Given the description of an element on the screen output the (x, y) to click on. 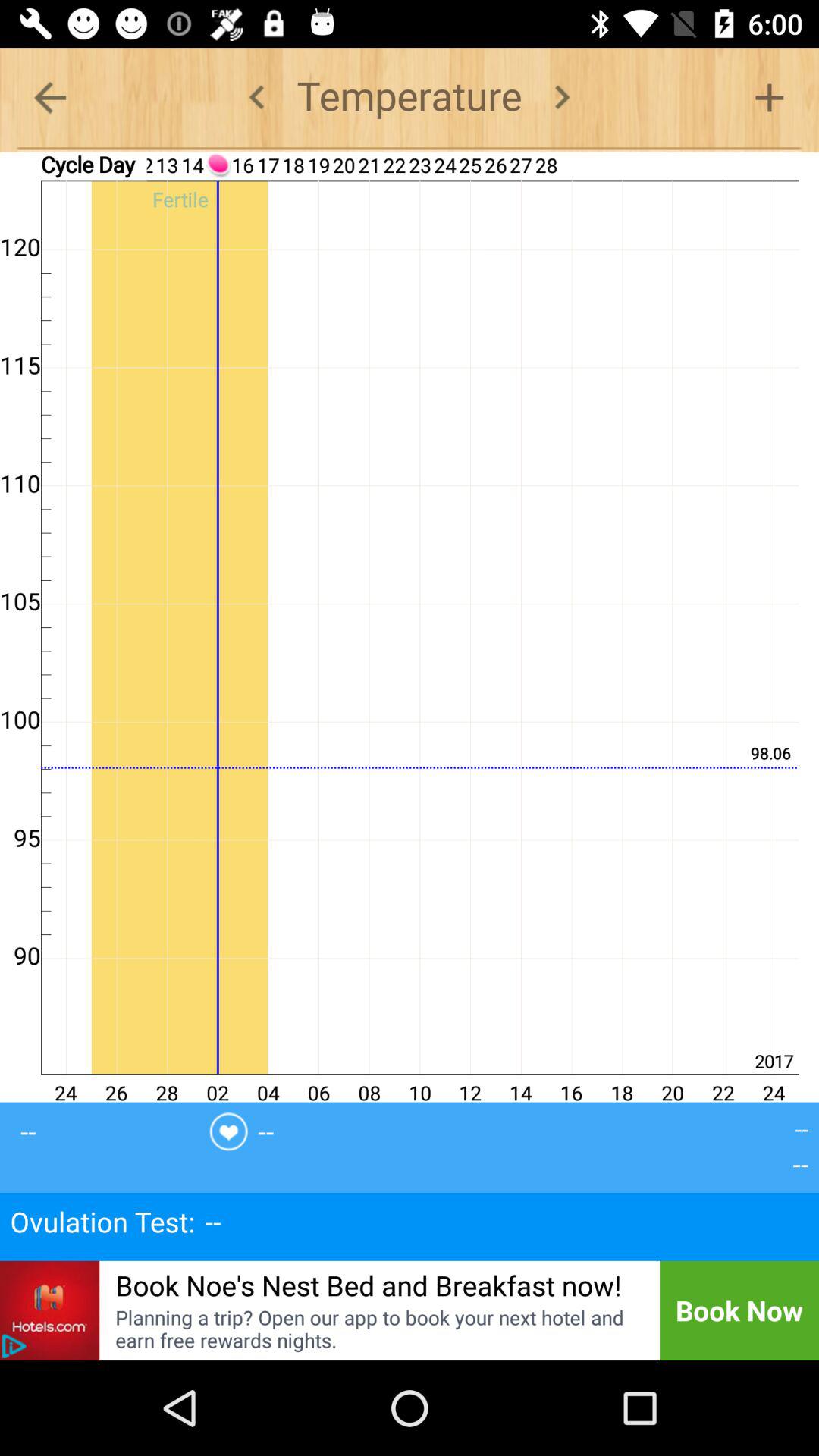
add to chart (769, 97)
